Given the description of an element on the screen output the (x, y) to click on. 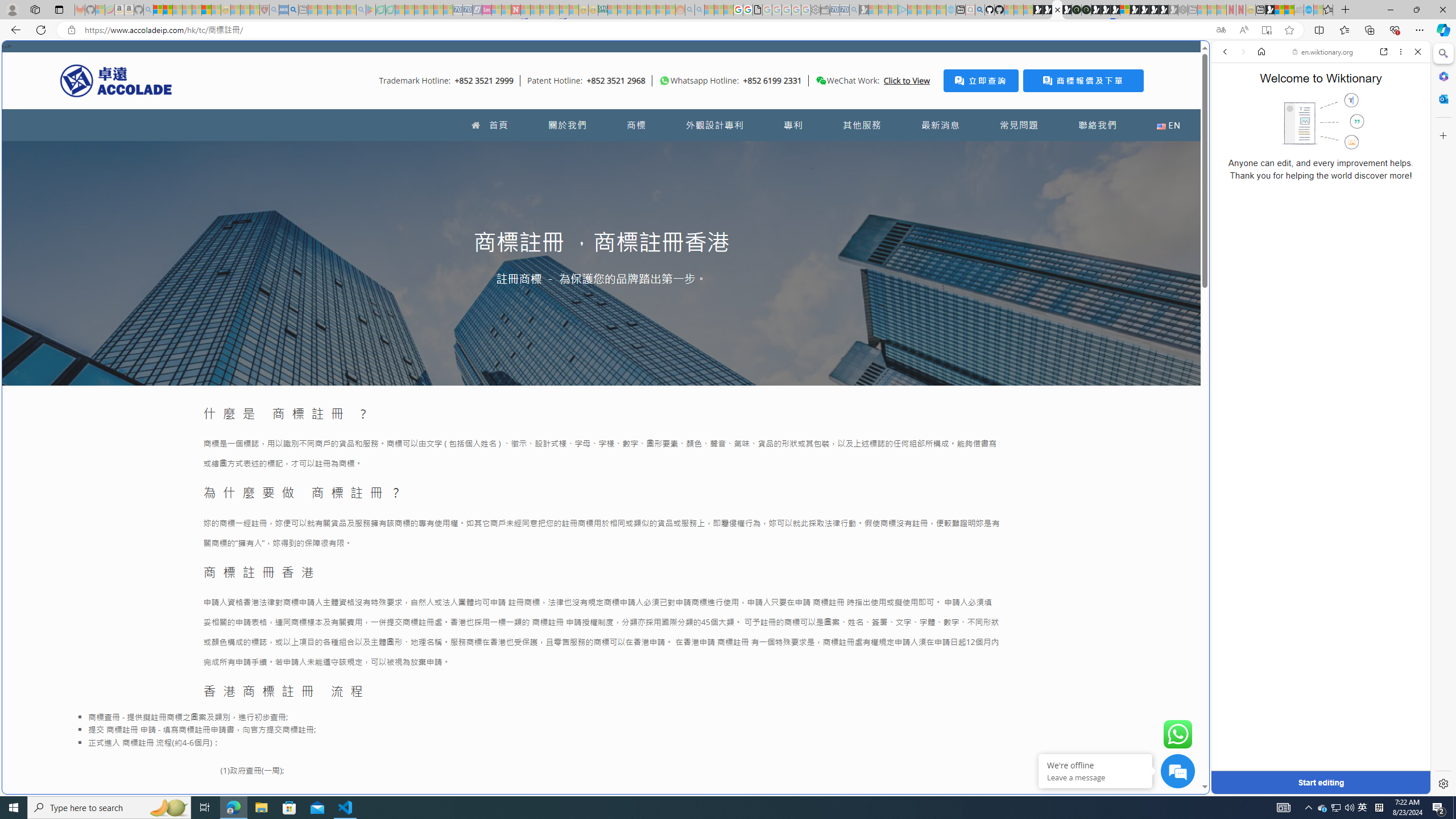
Enter Immersive Reader (F9) (1266, 29)
Start editing (1320, 782)
Tabs you've opened (885, 151)
Local - MSN - Sleeping (254, 9)
Preferences (1403, 129)
Class: b_serphb (1404, 130)
